Given the description of an element on the screen output the (x, y) to click on. 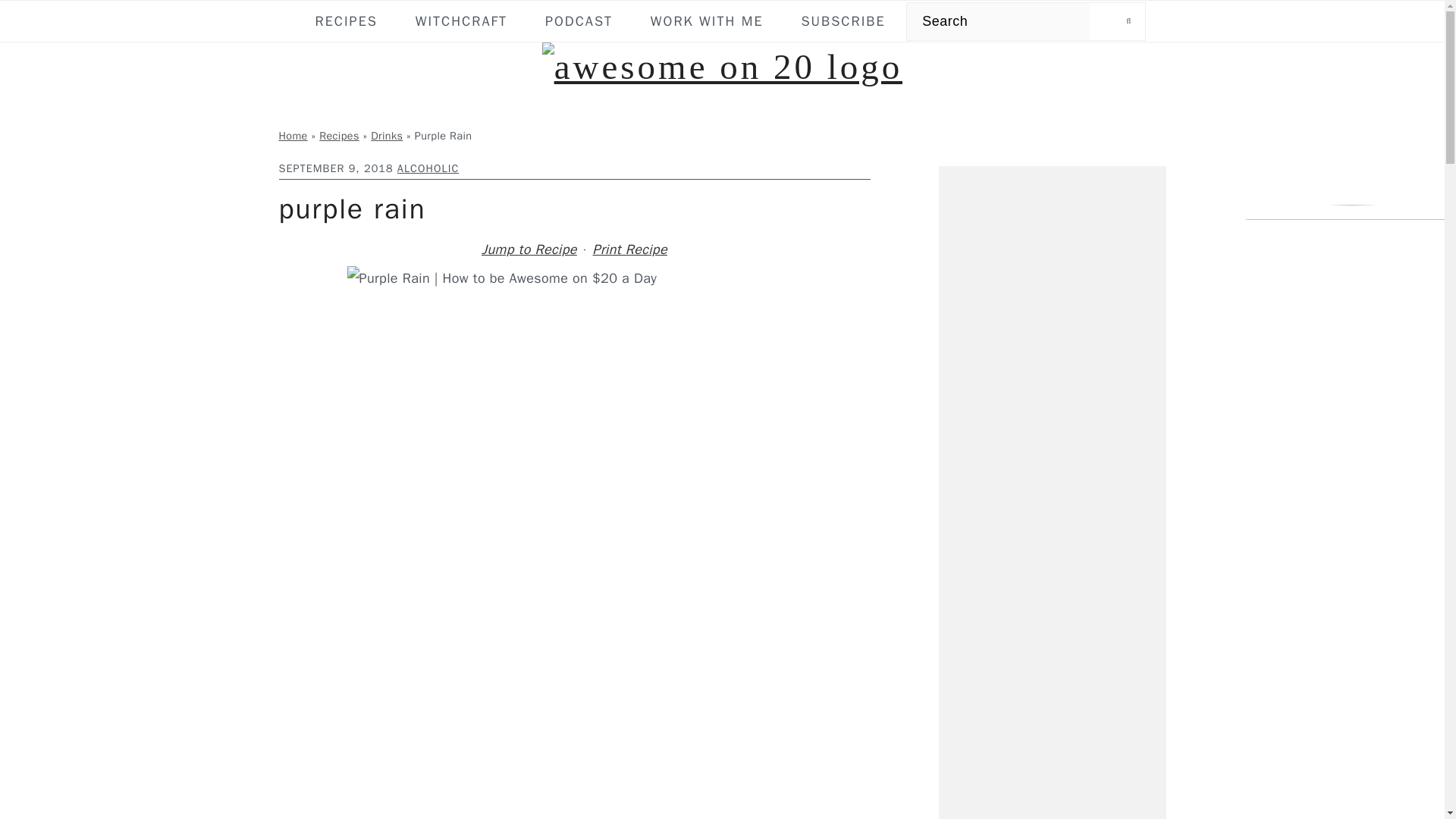
SUBSCRIBE (842, 21)
WORK WITH ME (706, 21)
WITCHCRAFT (461, 21)
PODCAST (579, 21)
RECIPES (346, 21)
Home (293, 135)
Jump to Recipe (529, 249)
Awesome on 20 (721, 67)
Awesome on 20 (721, 66)
